Given the description of an element on the screen output the (x, y) to click on. 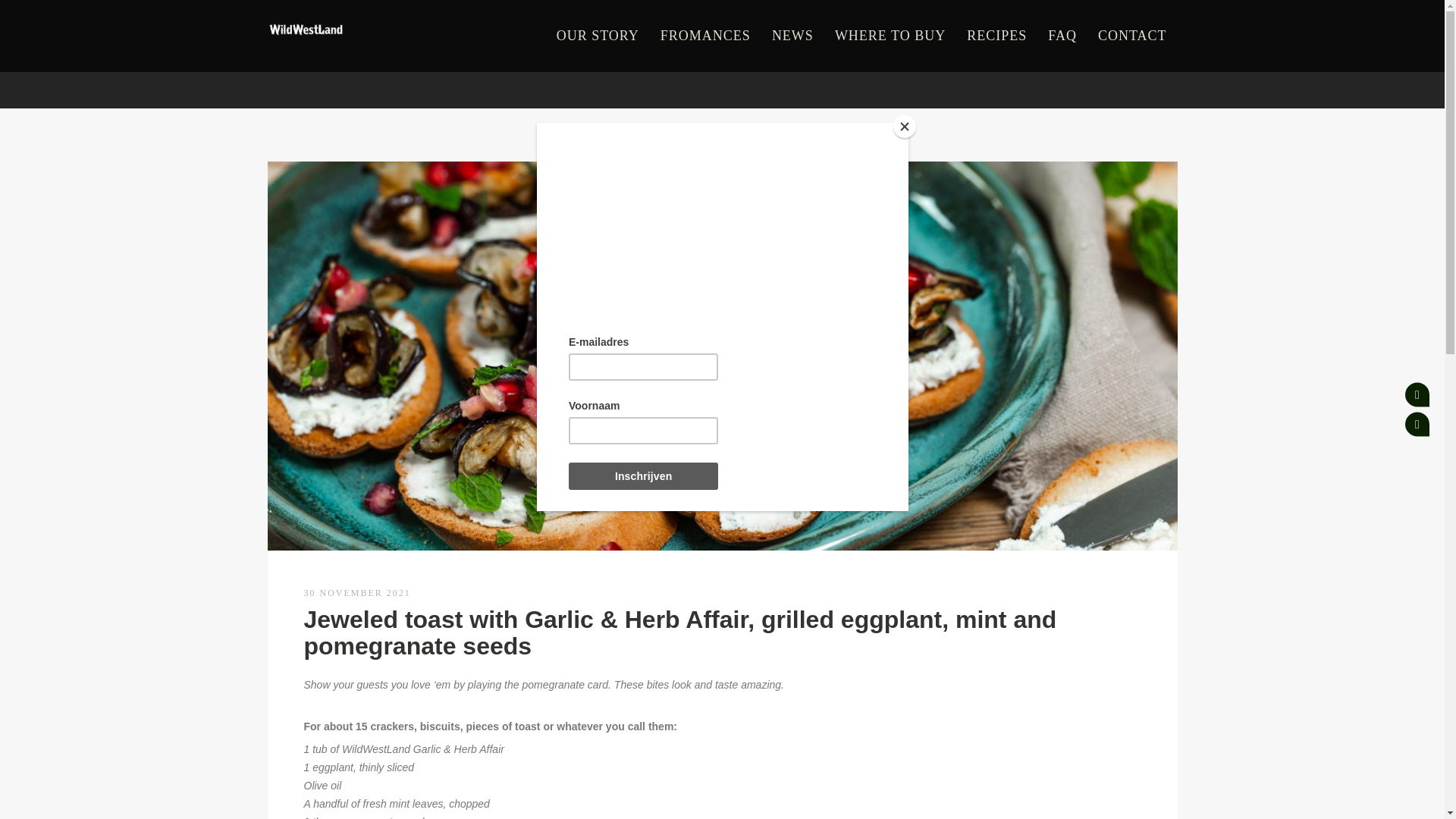
WHERE TO BUY (890, 35)
FAQ (1061, 35)
NEWS (792, 35)
OUR STORY (597, 35)
FROMANCES (705, 35)
Instagram (1417, 424)
CONTACT (1132, 35)
Facebook (1417, 394)
RECIPES (996, 35)
